Given the description of an element on the screen output the (x, y) to click on. 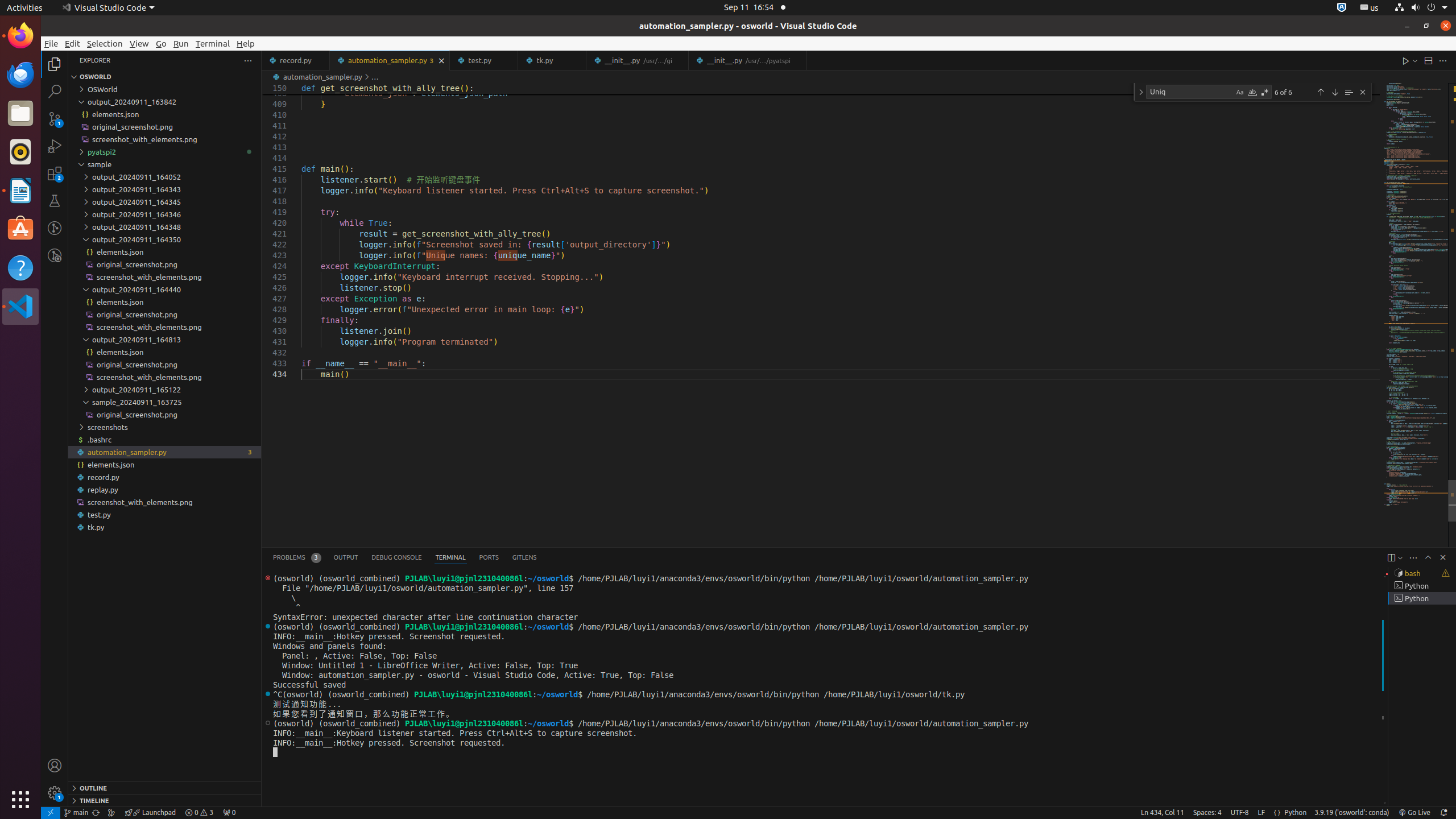
Use Regular Expression (Alt+R) Element type: check-box (1264, 91)
Outline Section Element type: push-button (164, 787)
Split Editor Right (Ctrl+\) [Alt] Split Editor Down Element type: push-button (1427, 60)
OSWorld (Git) - main, Checkout Branch/Tag... Element type: push-button (75, 812)
Show the GitLens Commit Graph Element type: push-button (111, 812)
